Given the description of an element on the screen output the (x, y) to click on. 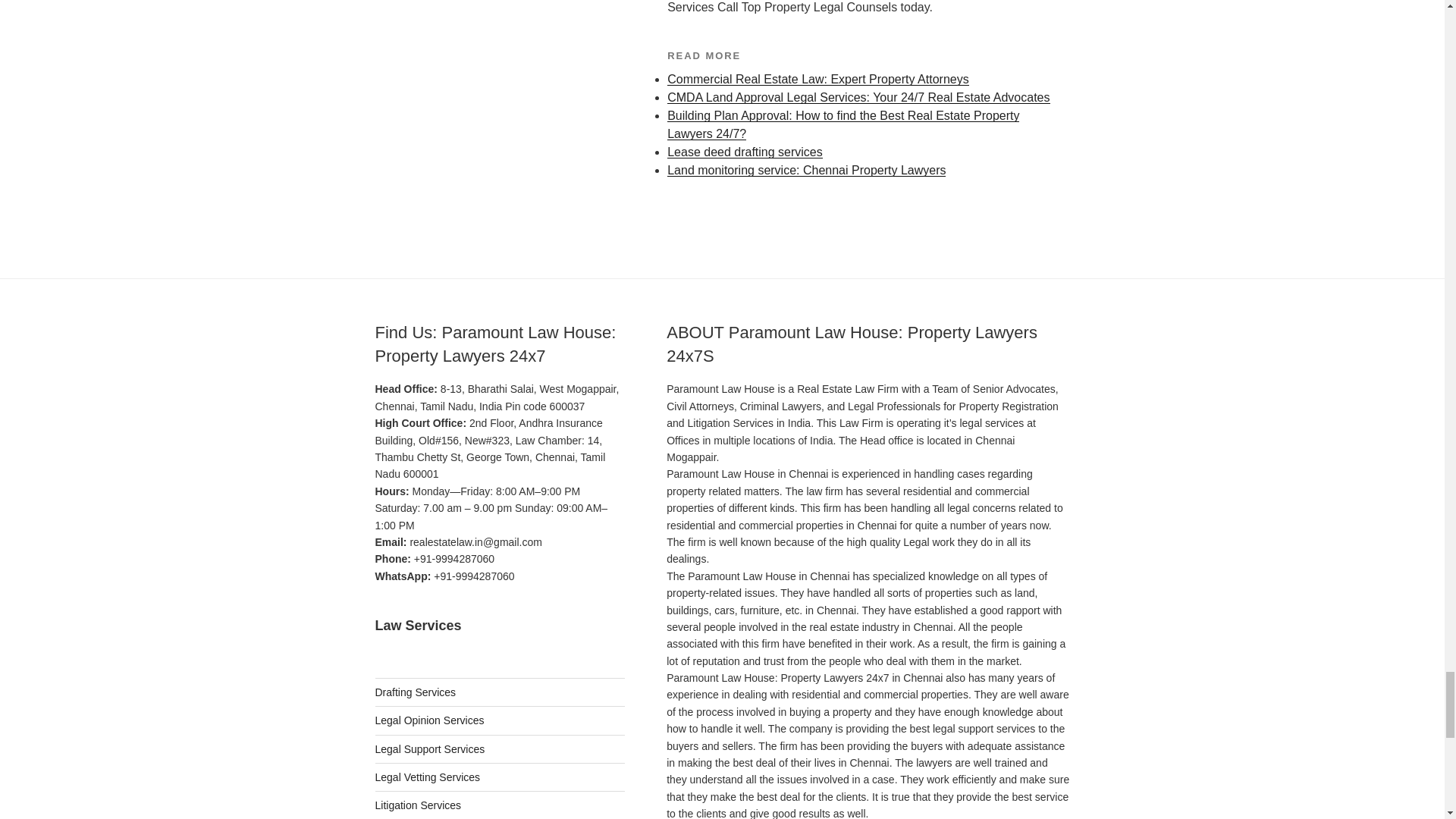
Lease deed drafting services (744, 151)
Land monitoring service: Chennai Property Lawyers (805, 169)
Commercial Real Estate Law: Expert Property Attorneys (817, 78)
Legal Opinion Services (428, 720)
Legal Vetting Services (427, 776)
Litigation Services (417, 805)
Legal Support Services (429, 748)
Drafting Services (414, 692)
